Given the description of an element on the screen output the (x, y) to click on. 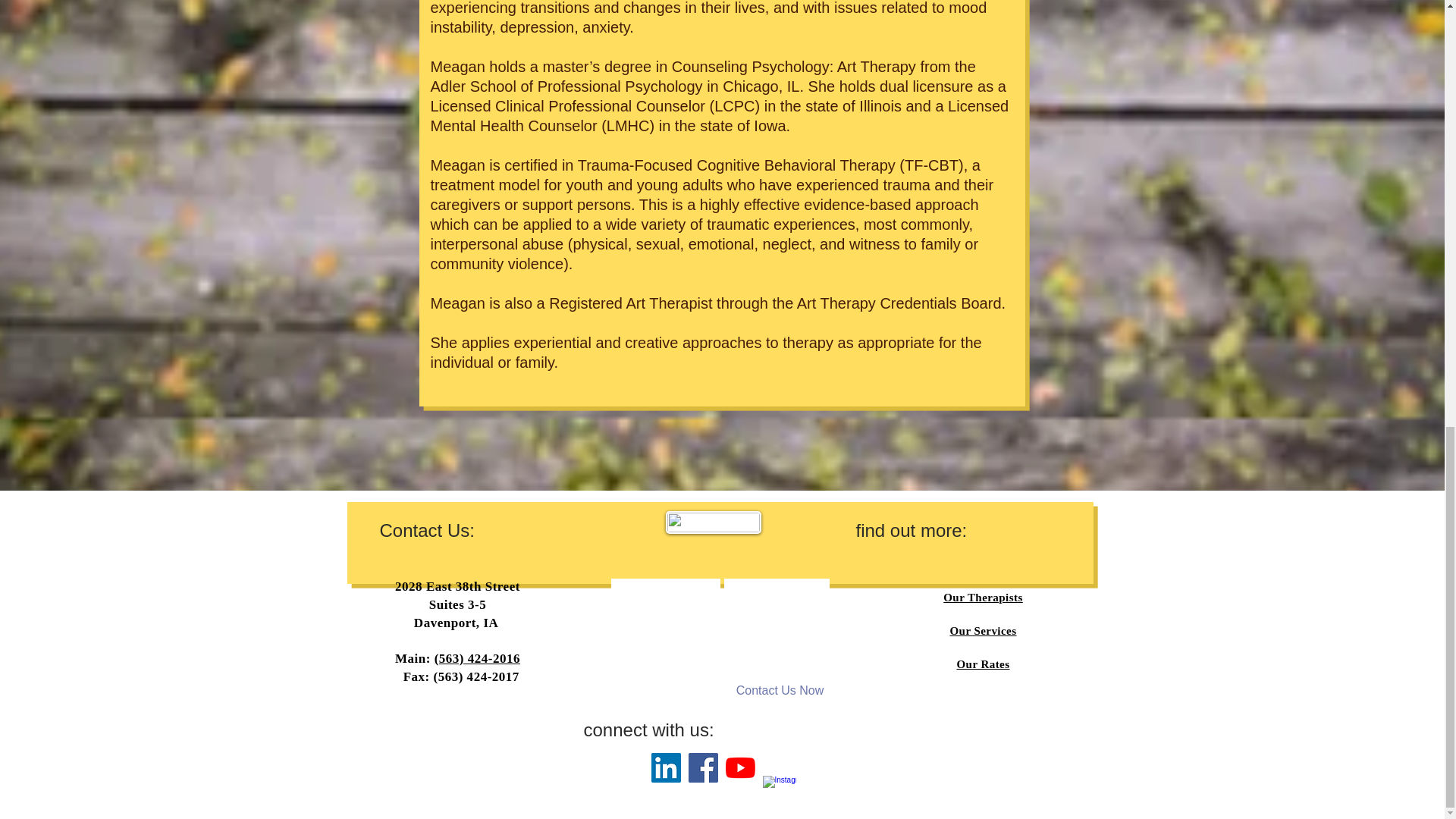
Contact Us Now (779, 690)
Our Rates (982, 663)
Our Therapists (983, 597)
Our Services (982, 630)
